Given the description of an element on the screen output the (x, y) to click on. 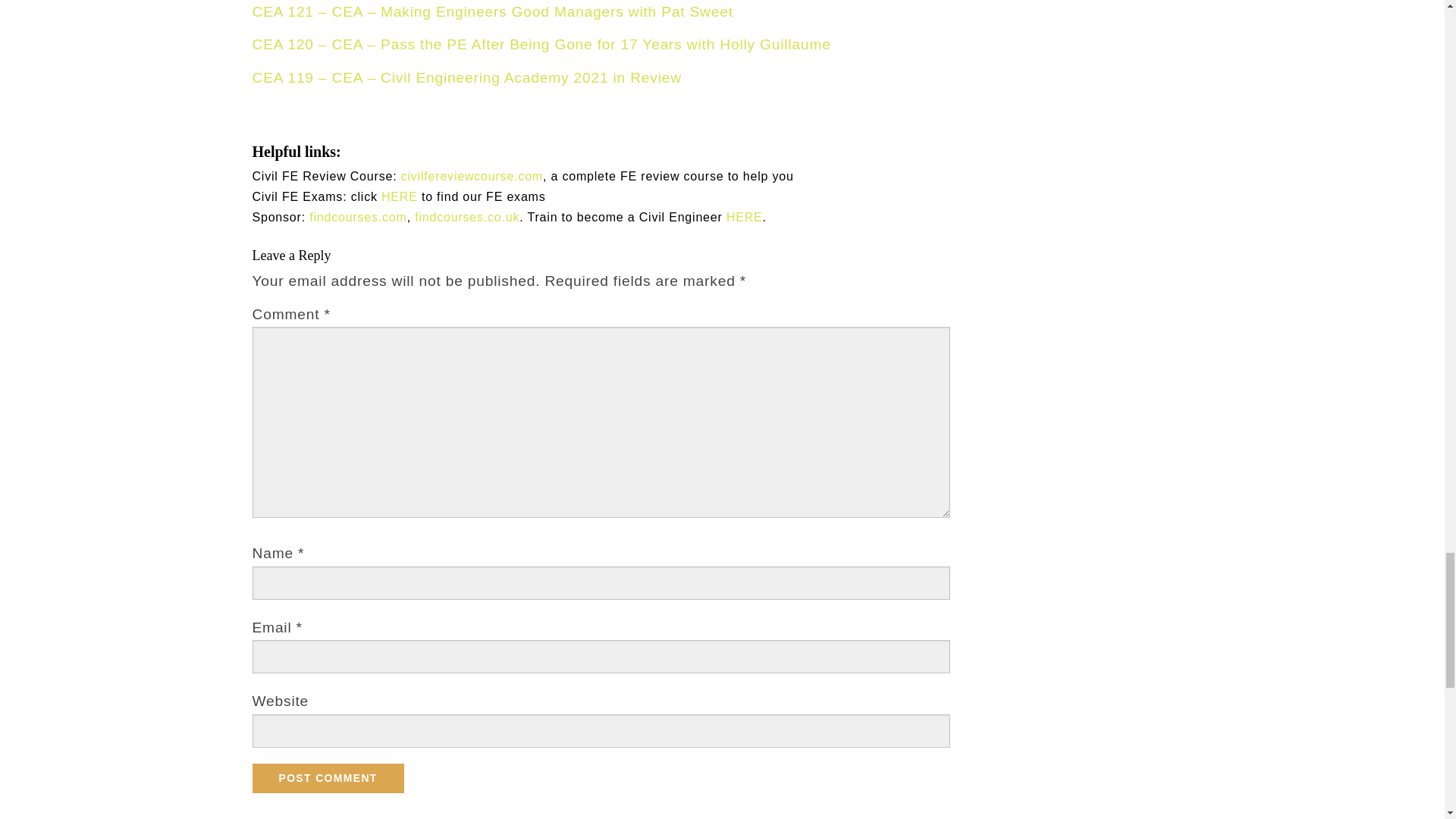
Post Comment (327, 778)
